Given the description of an element on the screen output the (x, y) to click on. 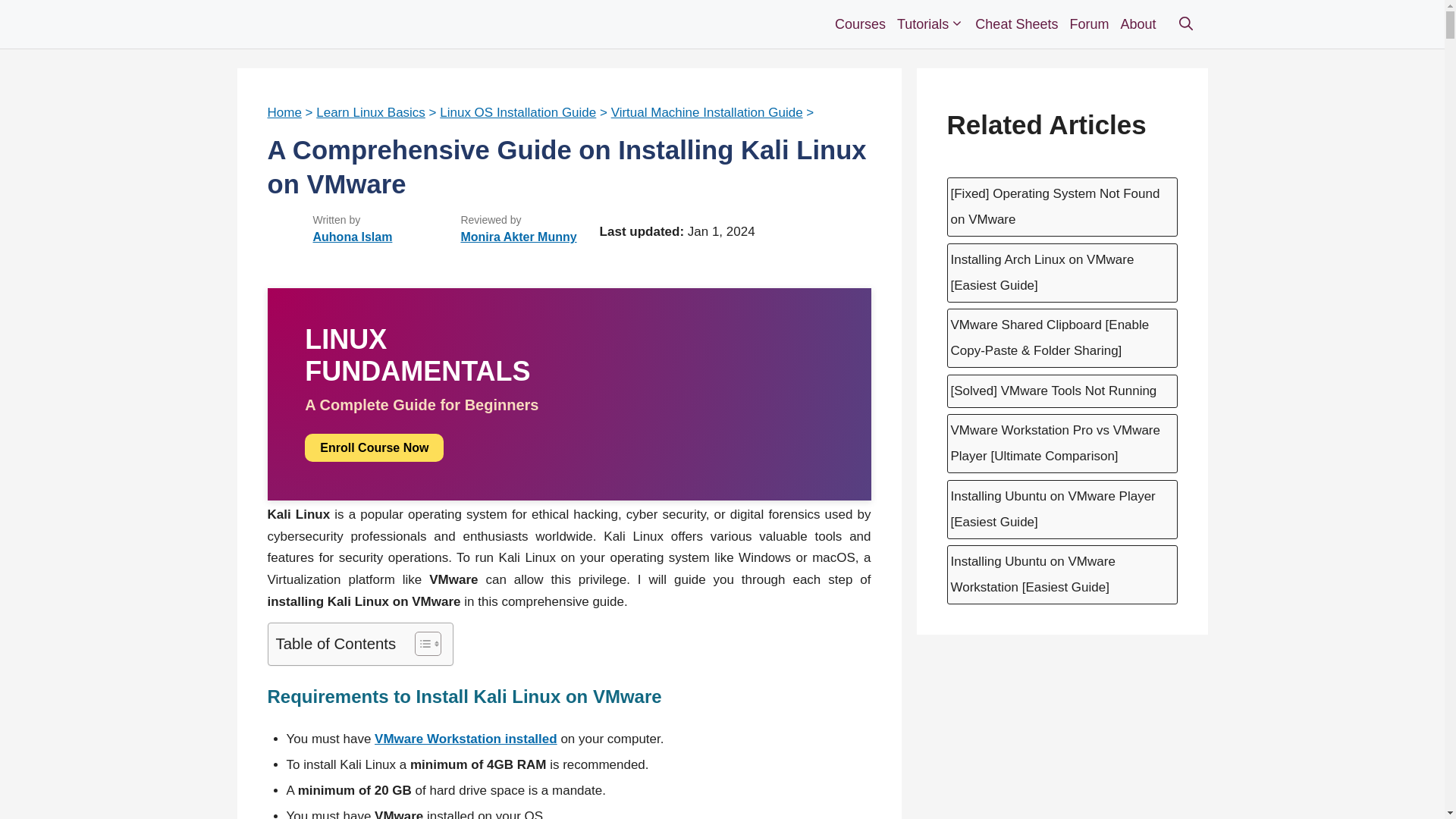
Enroll Course Now (374, 447)
Auhona Islam (352, 236)
Virtual Machine Installation Guide (707, 112)
Cheat Sheets (1018, 23)
Learn Linux Basics (370, 112)
Courses (862, 23)
Tutorials (932, 23)
Home (283, 112)
About (1139, 23)
Linux OS Installation Guide (517, 112)
Forum (1090, 23)
Monira Akter Munny (518, 236)
